Given the description of an element on the screen output the (x, y) to click on. 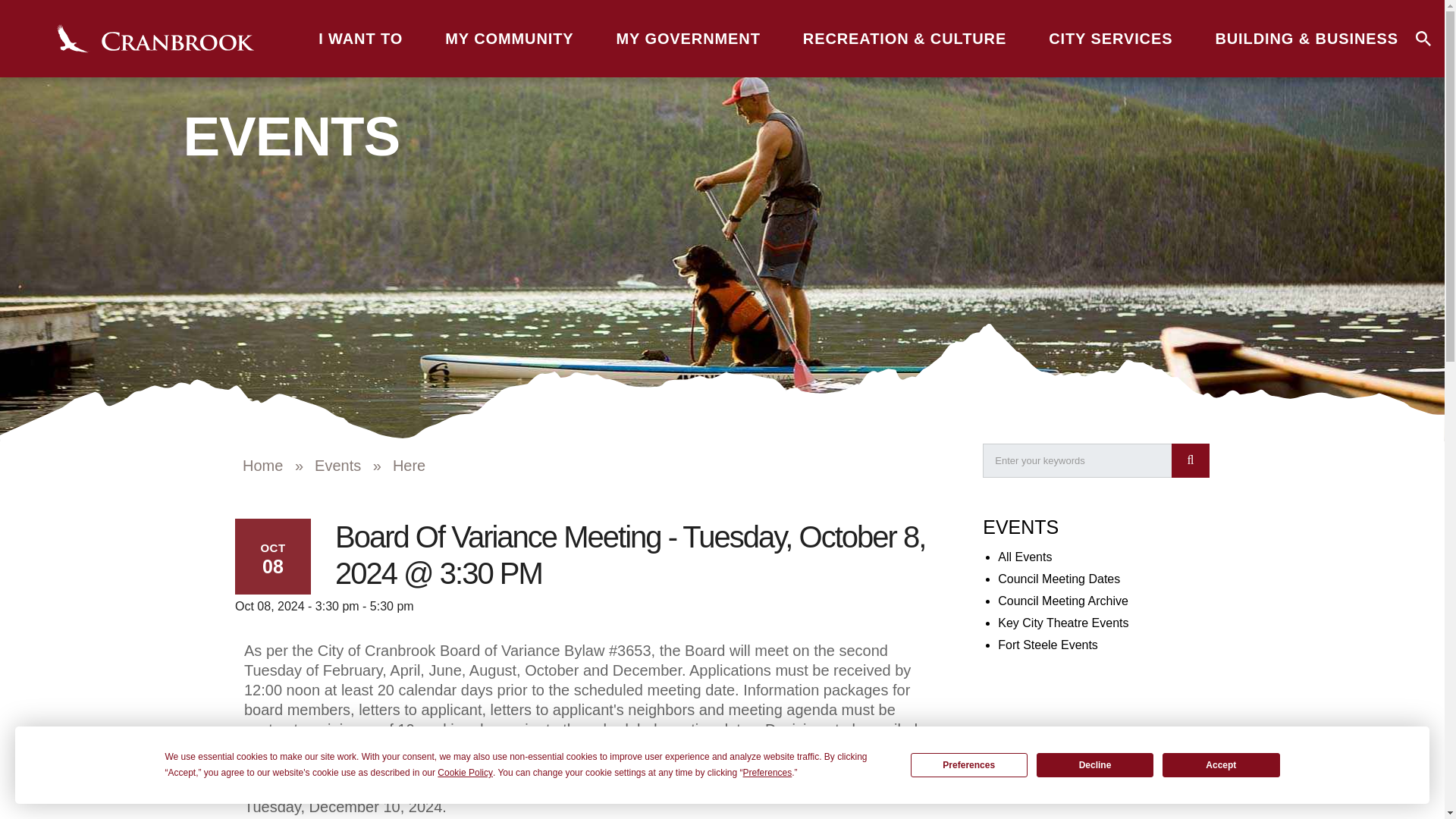
Decline (1094, 764)
I WANT TO (360, 38)
Cookie Policy (465, 772)
Preferences (969, 764)
Accept (1220, 764)
Preferences (767, 772)
Cranbook (154, 38)
